Given the description of an element on the screen output the (x, y) to click on. 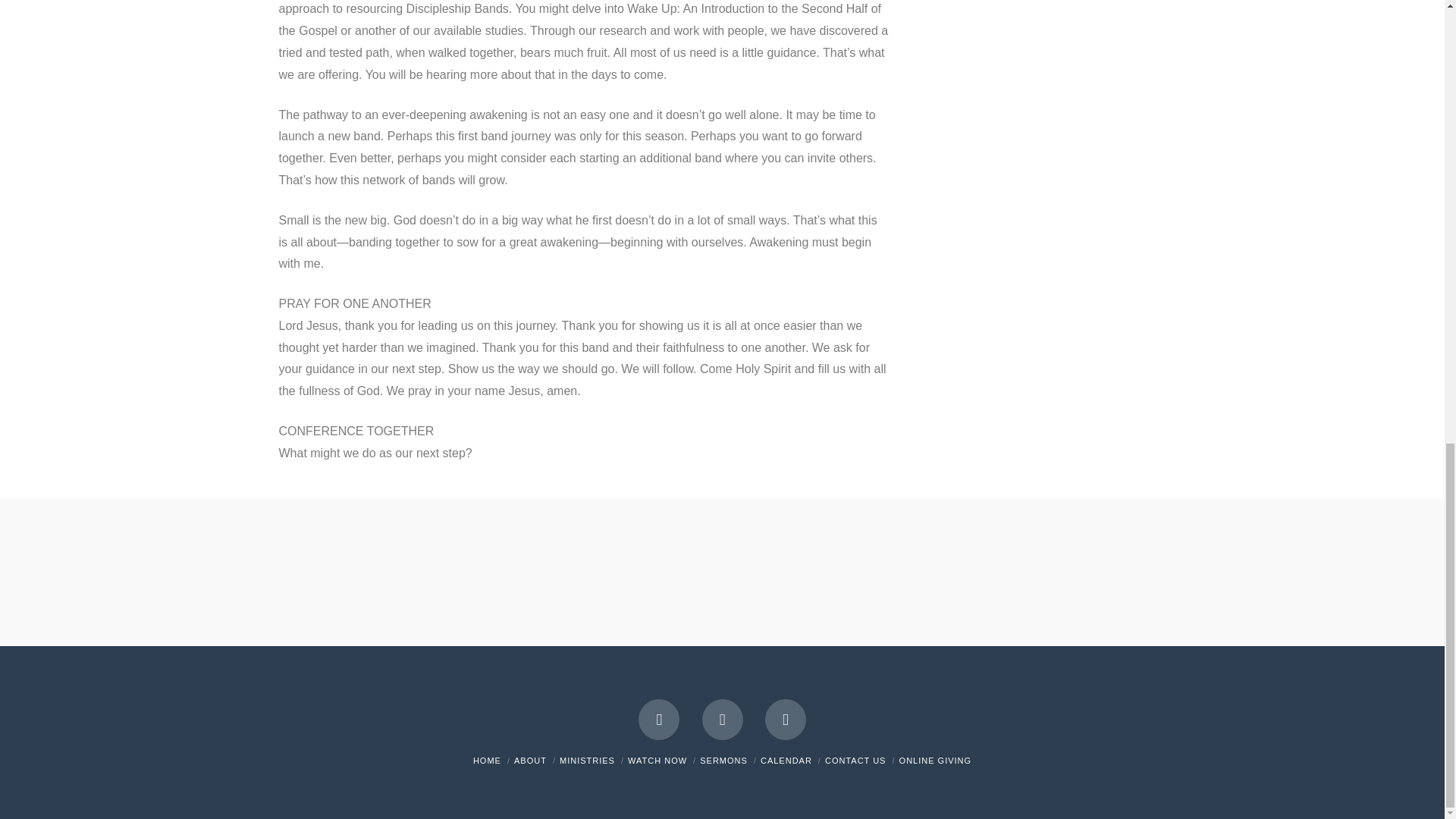
Instagram (785, 719)
Facebook (659, 719)
Twitter (721, 719)
